Given the description of an element on the screen output the (x, y) to click on. 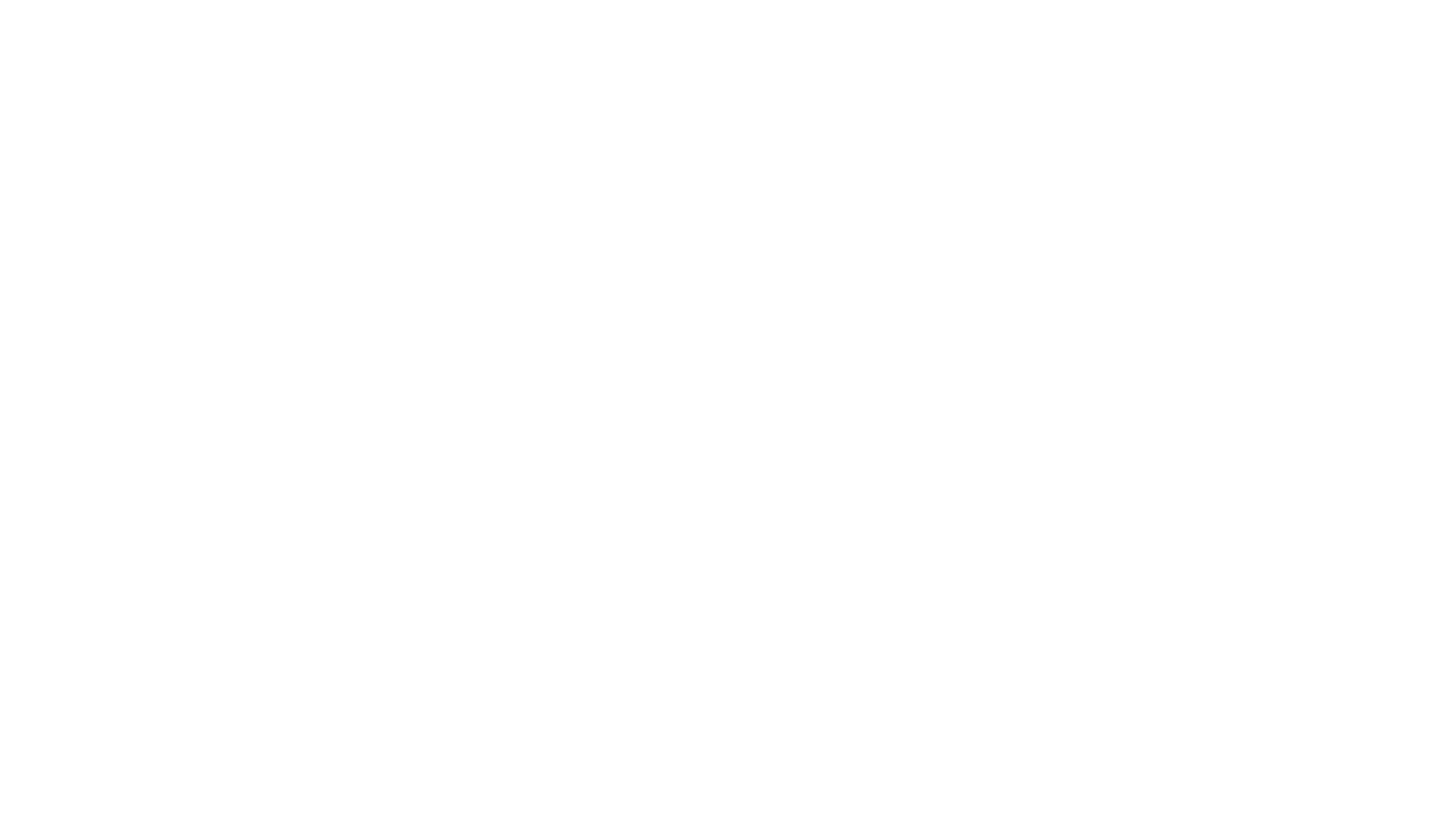
Skip to content Element type: text (15, 7)
